Given the description of an element on the screen output the (x, y) to click on. 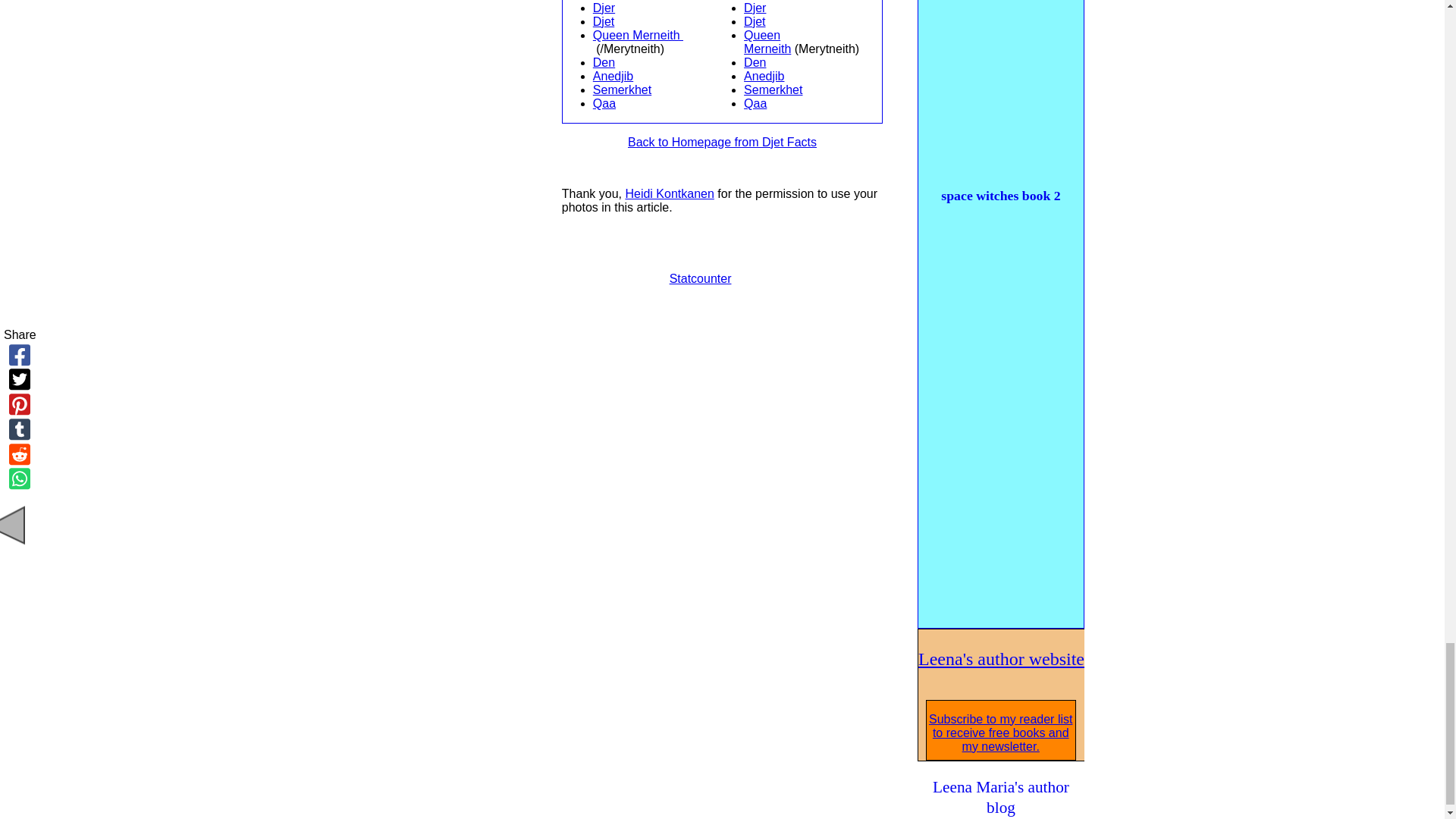
Djer (603, 7)
Qaa (603, 103)
Queen Merneith (637, 34)
Djet (754, 21)
Den (603, 62)
Anedjib (612, 75)
Djer (754, 7)
Semerkhet (621, 89)
